Given the description of an element on the screen output the (x, y) to click on. 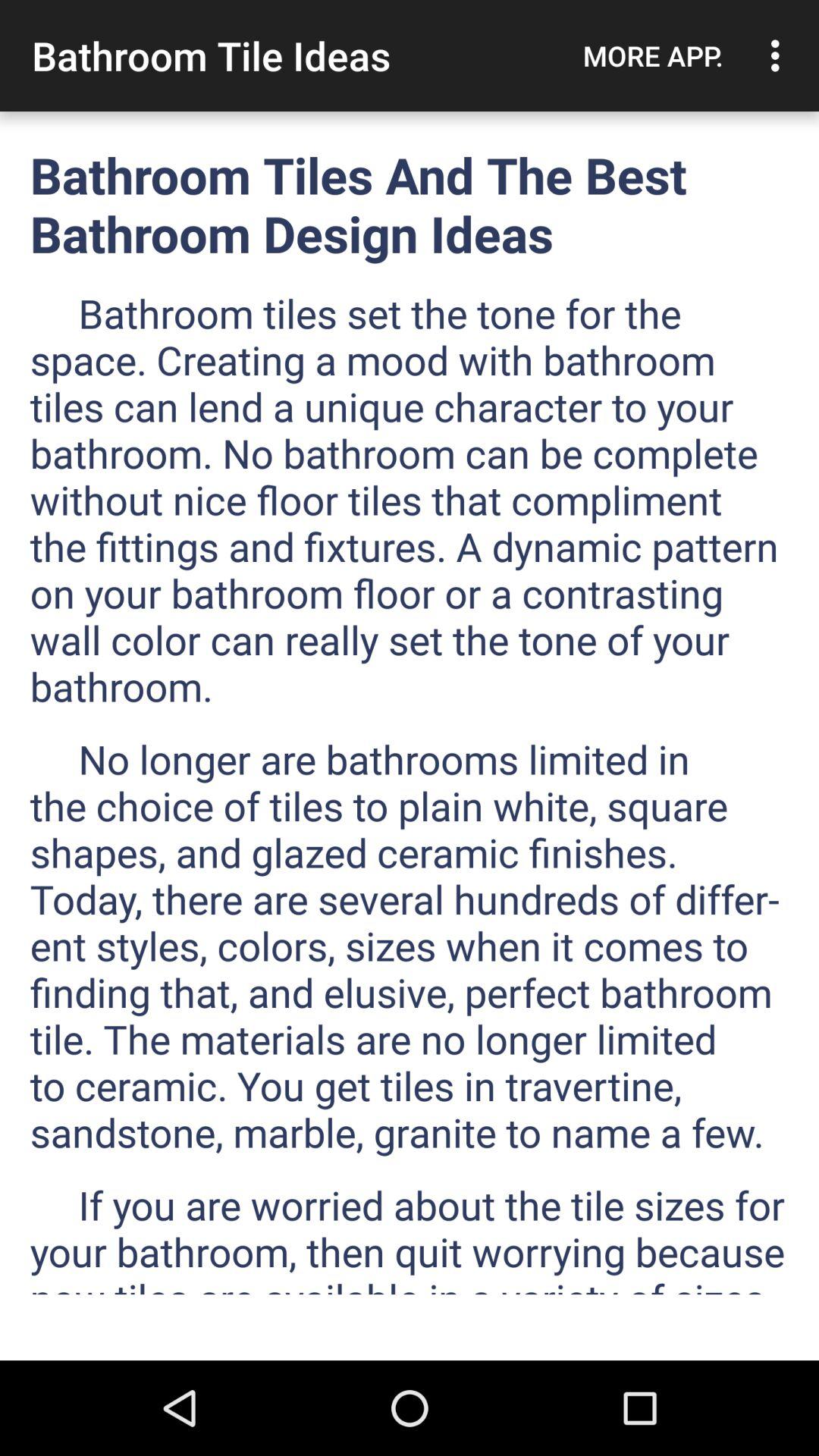
press icon to the right of bathroom tile ideas app (653, 55)
